Given the description of an element on the screen output the (x, y) to click on. 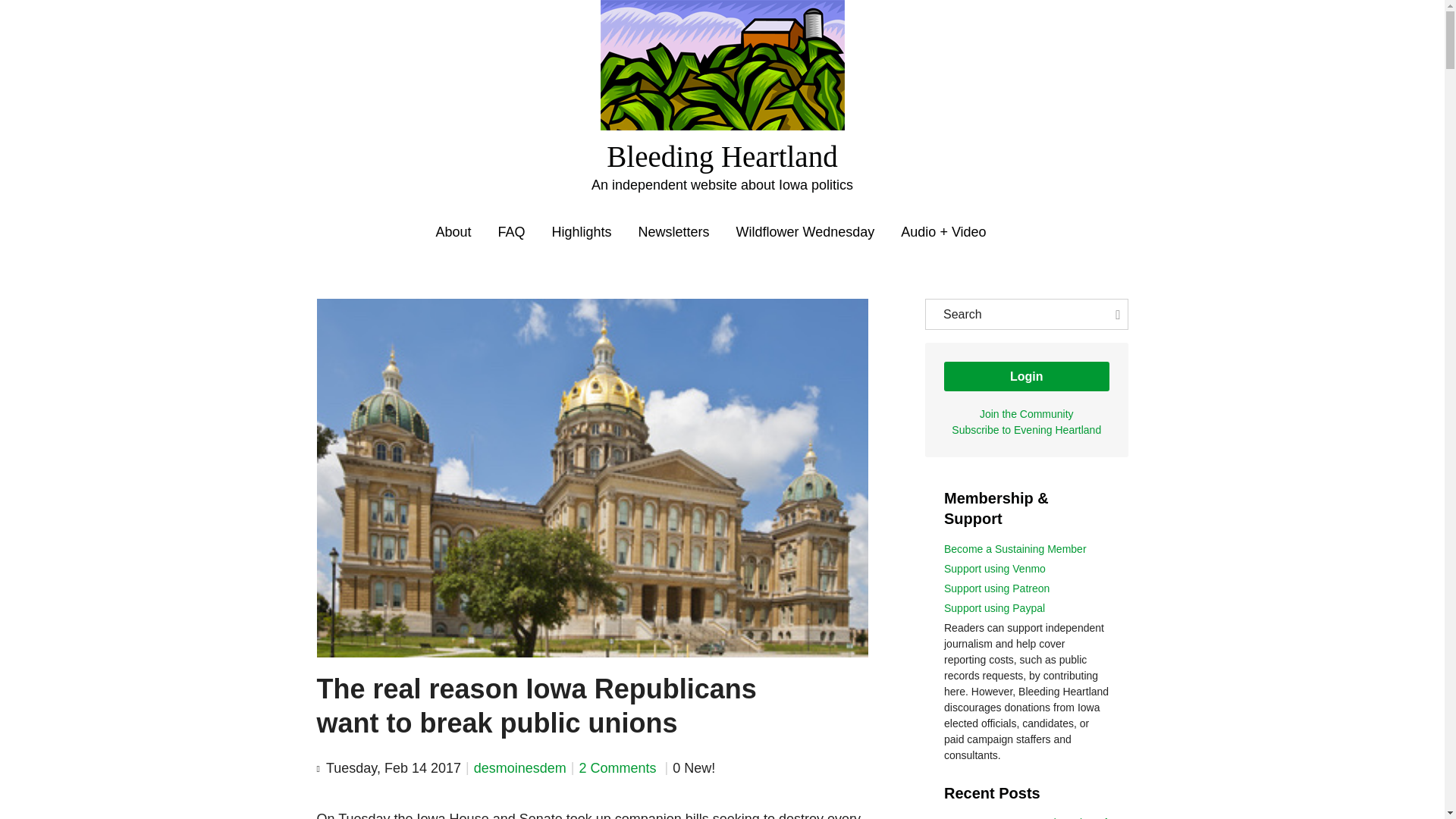
About (452, 231)
Newsletters (674, 231)
Highlights (581, 231)
FAQ (510, 231)
Posts by desmoinesdem (520, 767)
comments (618, 767)
desmoinesdem (520, 767)
Wildflower Wednesday (805, 231)
2 Comments (618, 767)
